Given the description of an element on the screen output the (x, y) to click on. 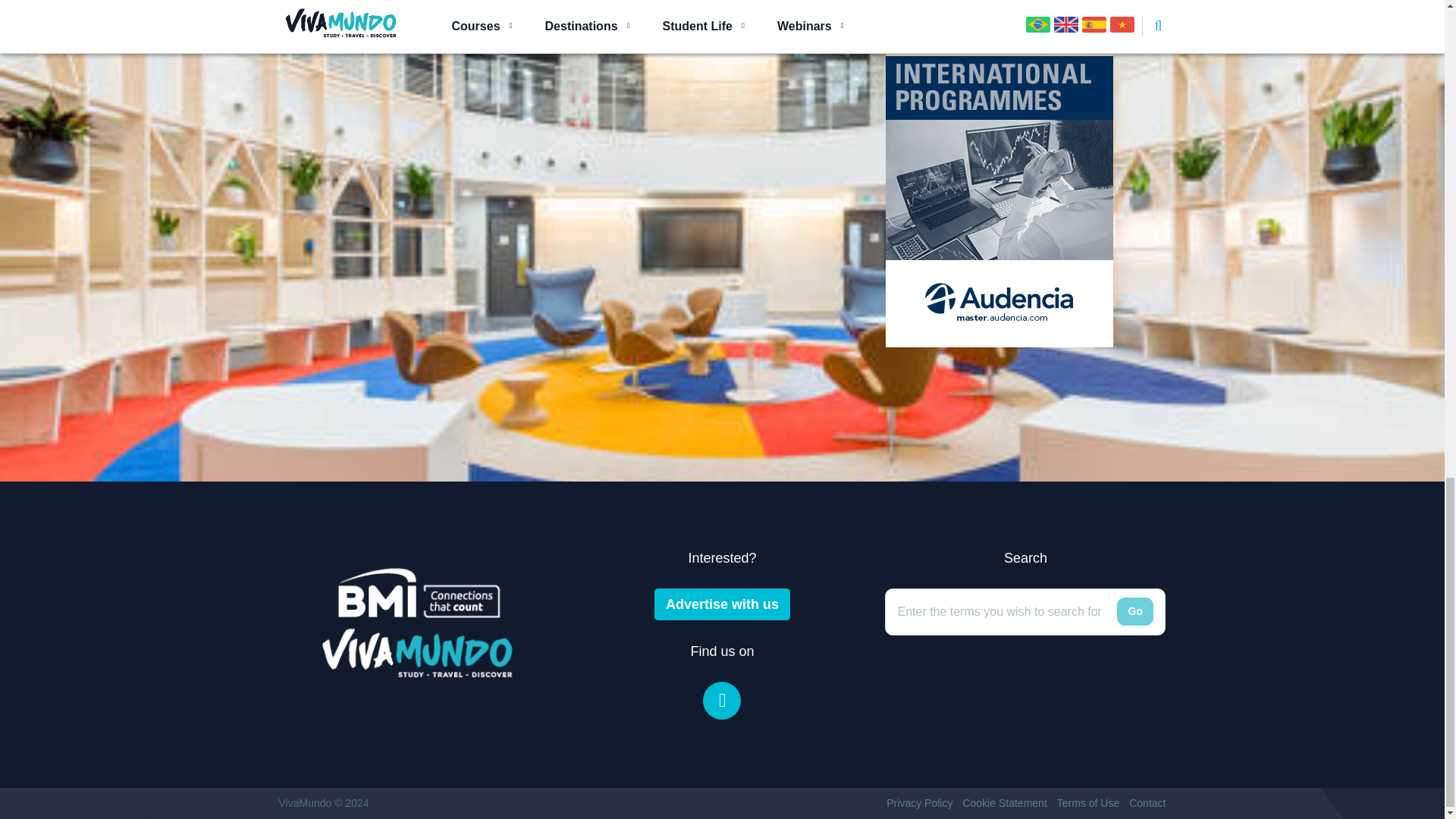
Enter the terms you wish to search for. (1010, 611)
Home (419, 622)
Go (1134, 611)
